Given the description of an element on the screen output the (x, y) to click on. 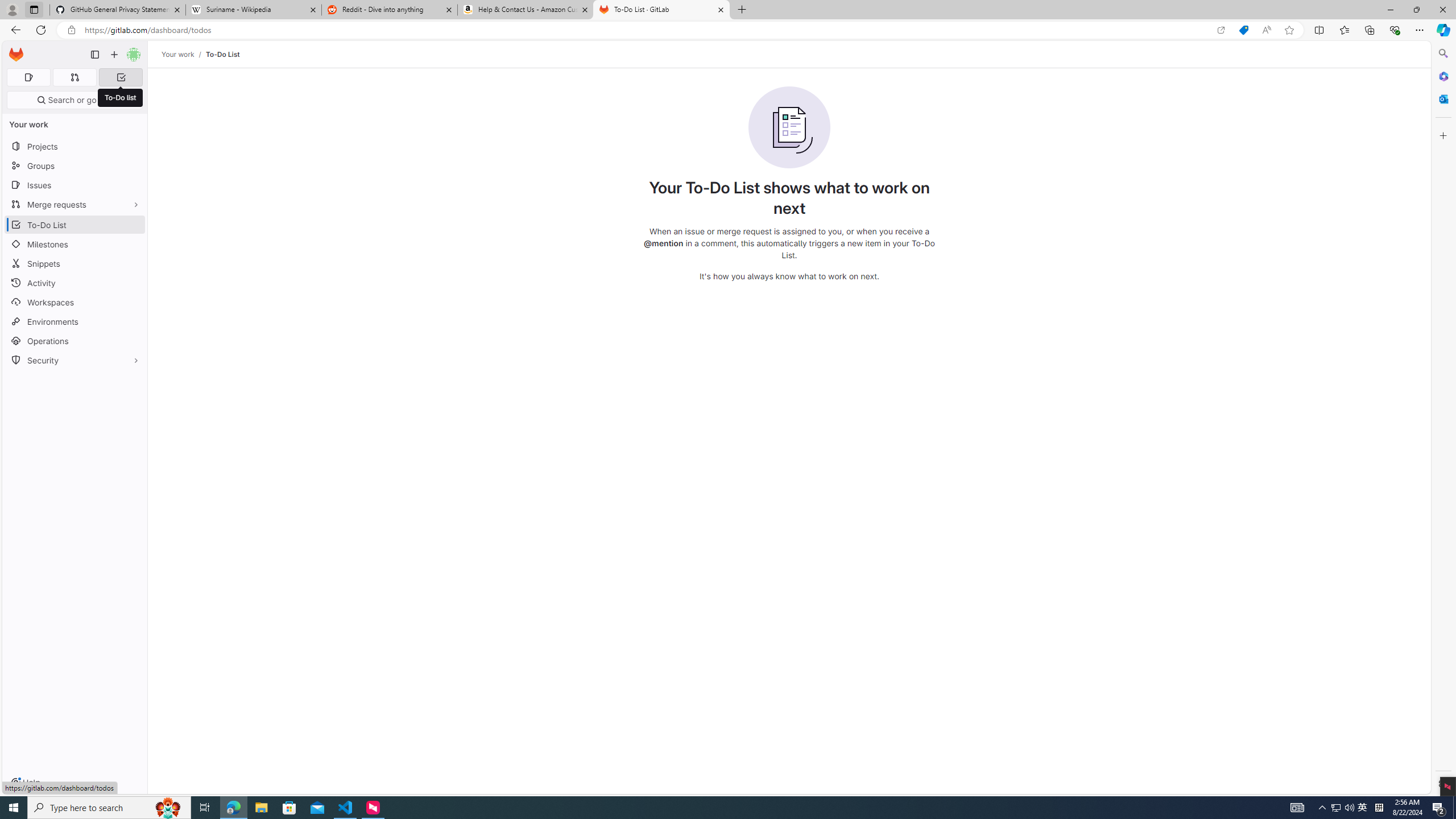
Merge requests (74, 203)
Milestones (74, 244)
Environments (74, 321)
Issues (74, 185)
To-Do list 0 (120, 76)
Projects (74, 145)
Projects (74, 145)
Security (74, 359)
